Given the description of an element on the screen output the (x, y) to click on. 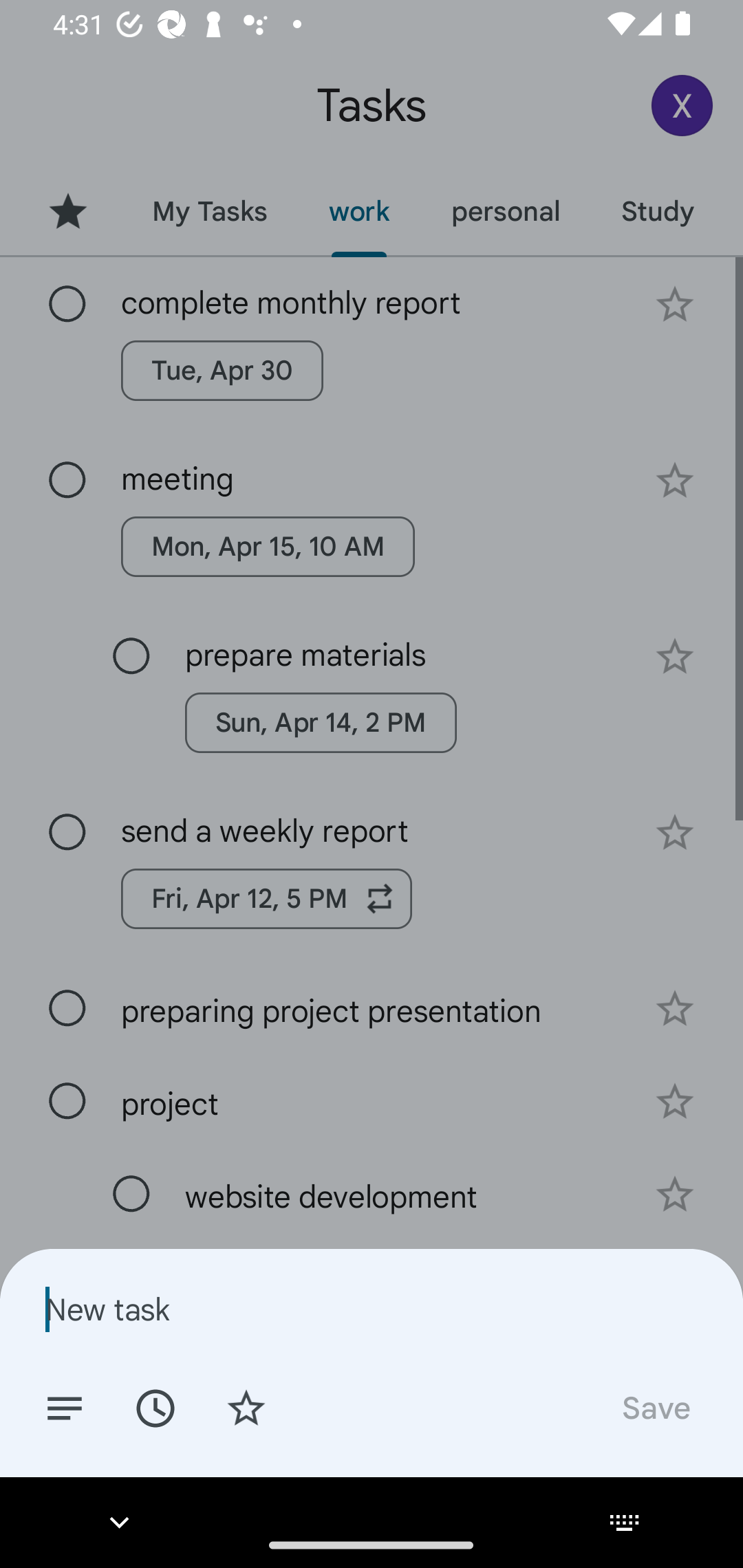
New task (371, 1308)
Save (655, 1407)
Add details (64, 1407)
Set date/time (154, 1407)
Add star (245, 1407)
